Given the description of an element on the screen output the (x, y) to click on. 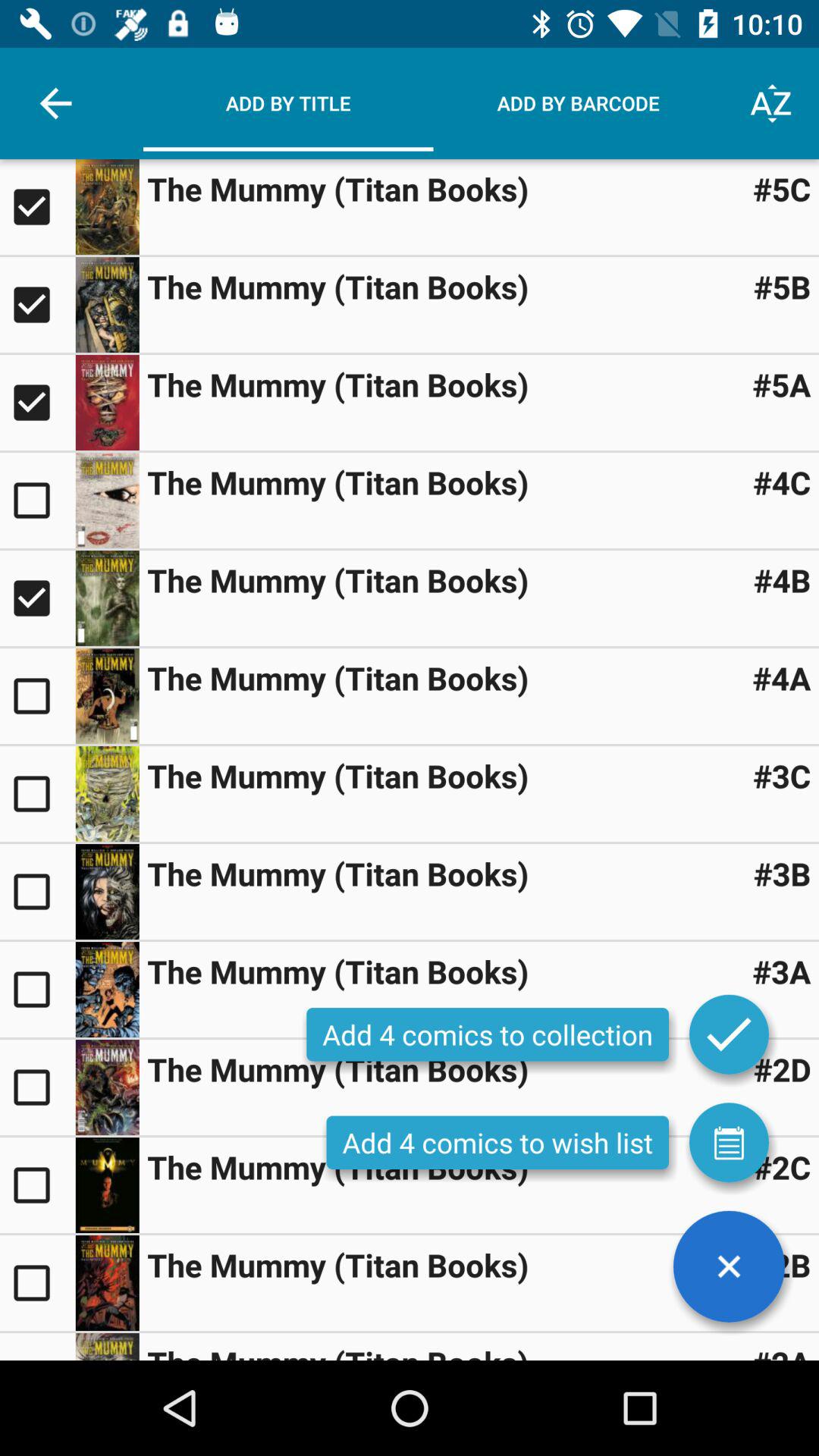
add to collection (729, 1034)
